Given the description of an element on the screen output the (x, y) to click on. 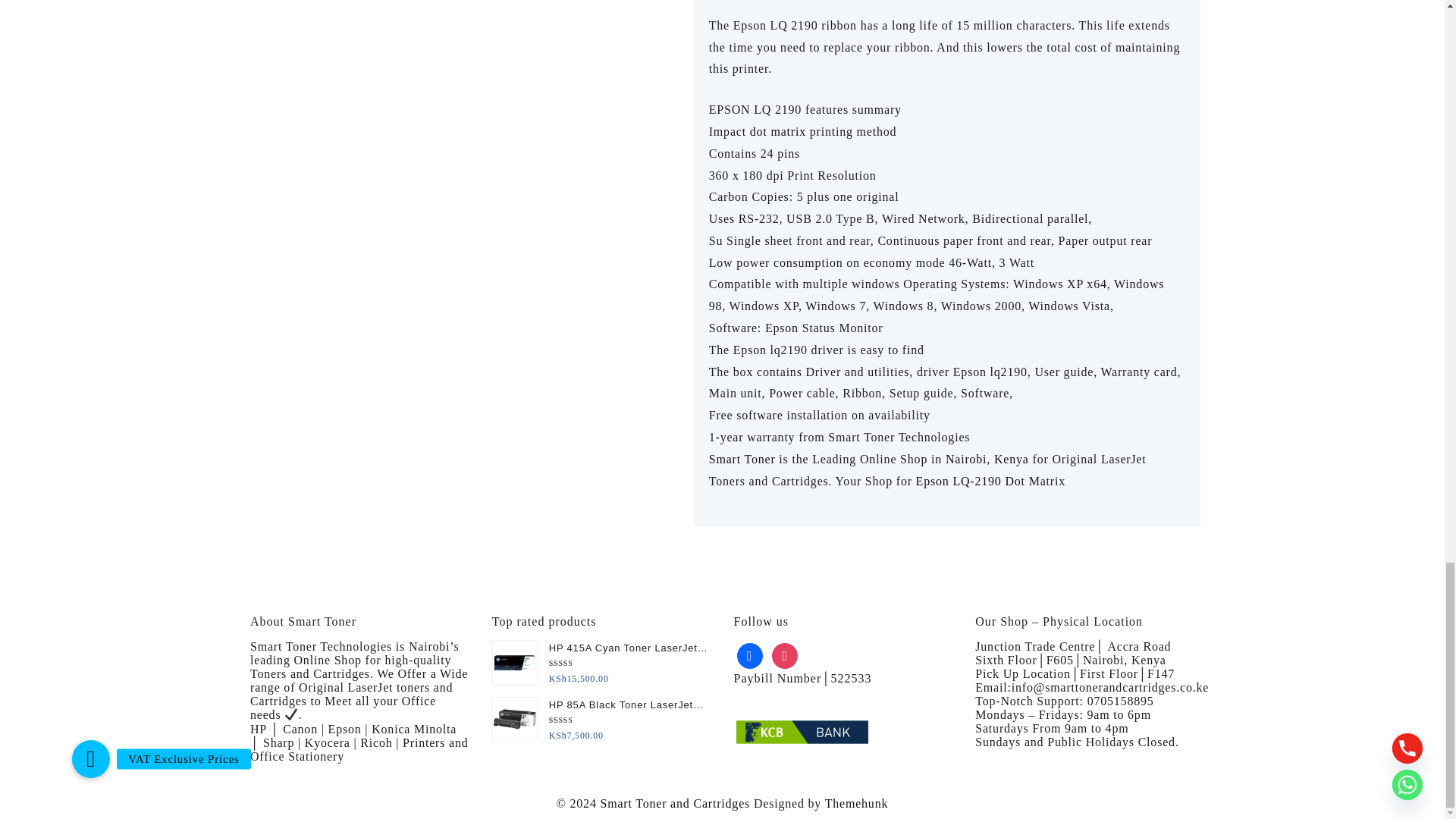
Instagram (784, 654)
Facebook (749, 654)
